Given the description of an element on the screen output the (x, y) to click on. 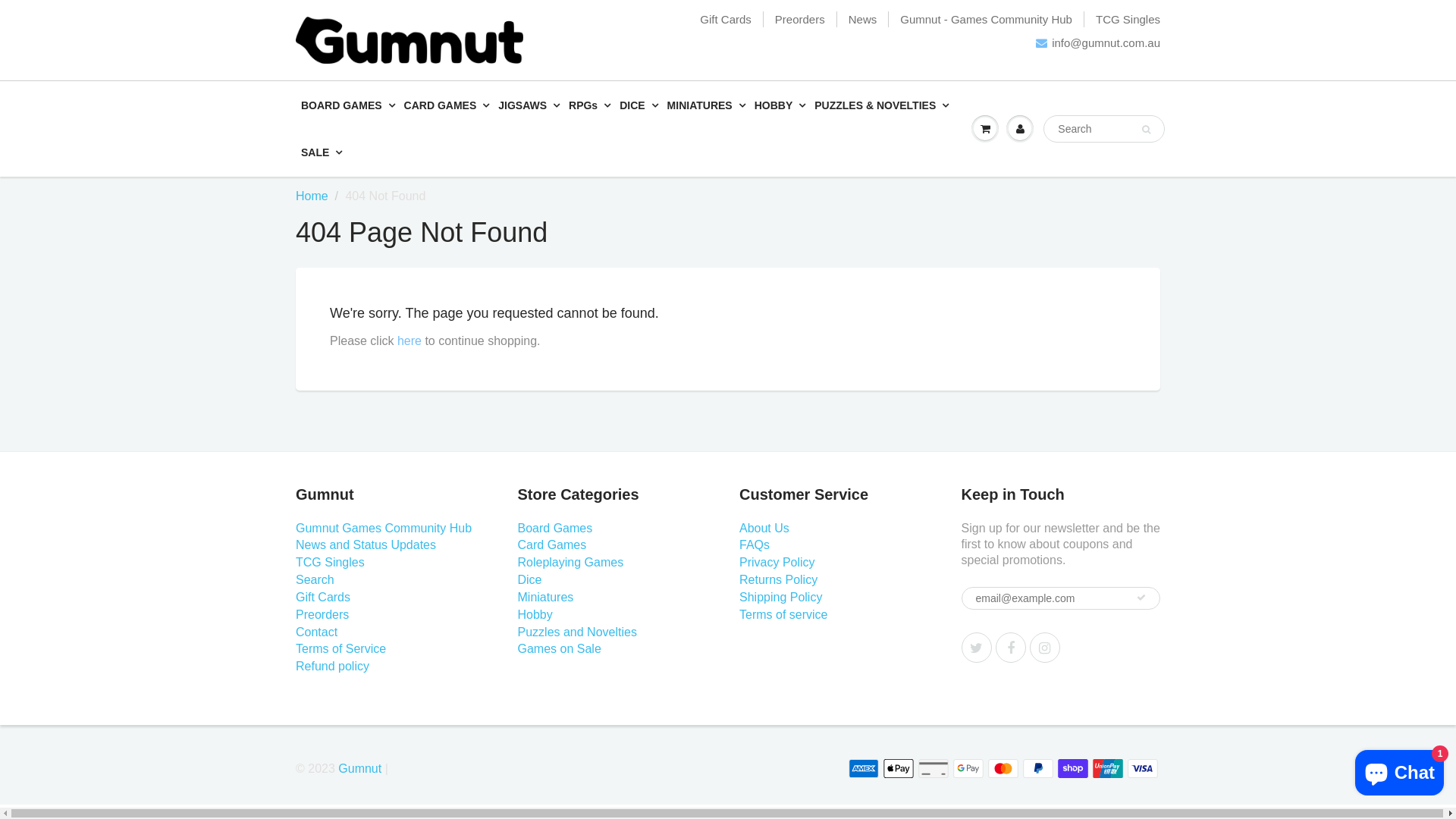
Preorders Element type: text (800, 19)
HOBBY Element type: text (779, 104)
Subscribe Element type: text (1140, 597)
Roleplaying Games Element type: text (570, 561)
Preorders Element type: text (321, 614)
TCG Singles Element type: text (1127, 19)
Gumnut Games Community Hub Element type: text (383, 527)
Contact Element type: text (316, 631)
CARD GAMES Element type: text (446, 104)
News Element type: text (862, 19)
Gumnut Element type: text (359, 768)
Returns Policy Element type: text (778, 579)
News and Status Updates Element type: text (365, 544)
RPGs Element type: text (589, 104)
Terms of Service Element type: text (340, 648)
Home Element type: text (311, 195)
Games on Sale Element type: text (558, 648)
Shopify online store chat Element type: hover (1399, 769)
Twitter Element type: hover (976, 647)
Shipping Policy Element type: text (780, 596)
SALE Element type: text (321, 151)
here Element type: text (409, 340)
About Us Element type: text (764, 527)
BOARD GAMES Element type: text (347, 104)
Instagram Element type: hover (1044, 647)
DICE Element type: text (638, 104)
PUZZLES & NOVELTIES Element type: text (881, 104)
Refund policy Element type: text (332, 665)
Card Games Element type: text (551, 544)
Gumnut - Games Community Hub Element type: text (986, 19)
Dice Element type: text (529, 579)
Terms of service Element type: text (783, 614)
Board Games Element type: text (554, 527)
MINIATURES Element type: text (705, 104)
Facebook Element type: hover (1009, 647)
Privacy Policy Element type: text (777, 561)
Search Element type: text (1146, 129)
Gift Cards Element type: text (725, 19)
Miniatures Element type: text (545, 596)
info@gumnut.com.au Element type: text (1097, 42)
Search Element type: text (314, 579)
Gift Cards Element type: text (322, 596)
FAQs Element type: text (754, 544)
JIGSAWS Element type: text (528, 104)
TCG Singles Element type: text (329, 561)
Puzzles and Novelties Element type: text (576, 631)
Hobby Element type: text (534, 614)
